Given the description of an element on the screen output the (x, y) to click on. 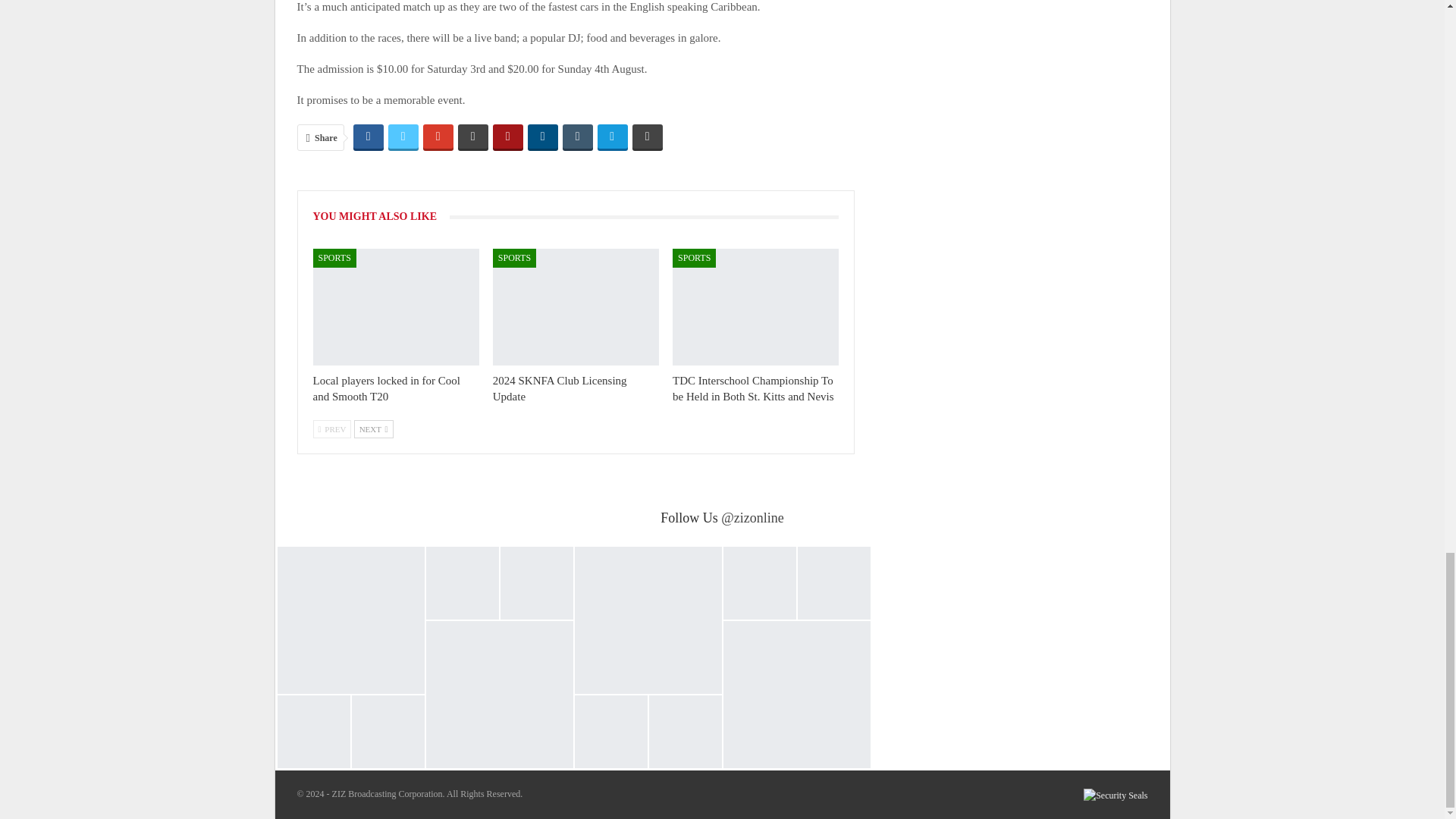
2024 SKNFA Club Licensing Update (560, 388)
Local players locked in for Cool and Smooth T20 (396, 306)
2024 SKNFA Club Licensing Update (576, 306)
Previous (331, 429)
Next (373, 429)
Local players locked in for Cool and Smooth T20 (386, 388)
